Given the description of an element on the screen output the (x, y) to click on. 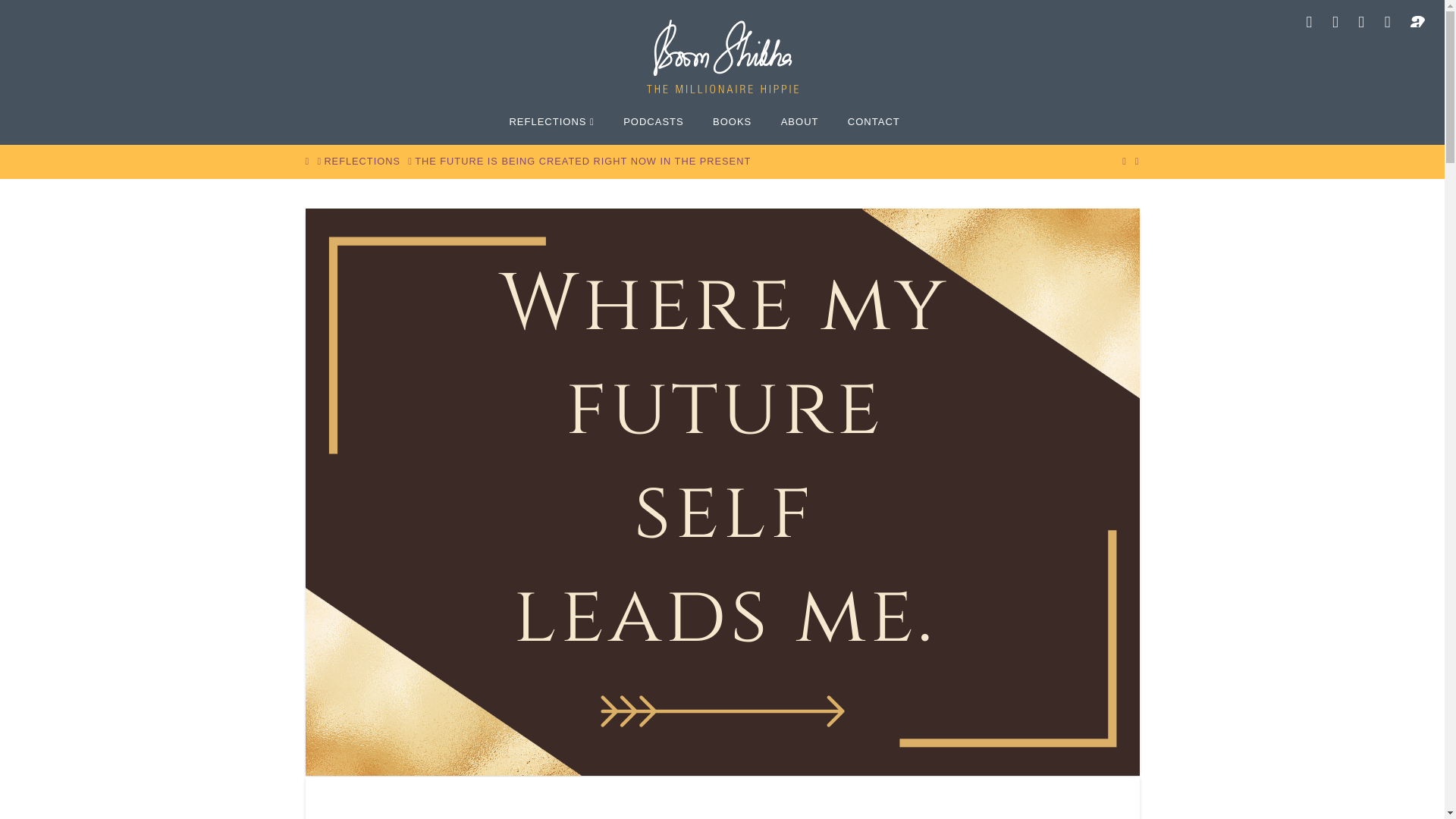
CONTACT (873, 121)
You Are Here (582, 161)
PODCASTS (653, 121)
THE FUTURE IS BEING CREATED RIGHT NOW IN THE PRESENT (582, 161)
ABOUT (798, 121)
HOME (306, 161)
REFLECTIONS (551, 121)
REFLECTIONS (361, 161)
BOOKS (732, 121)
